Given the description of an element on the screen output the (x, y) to click on. 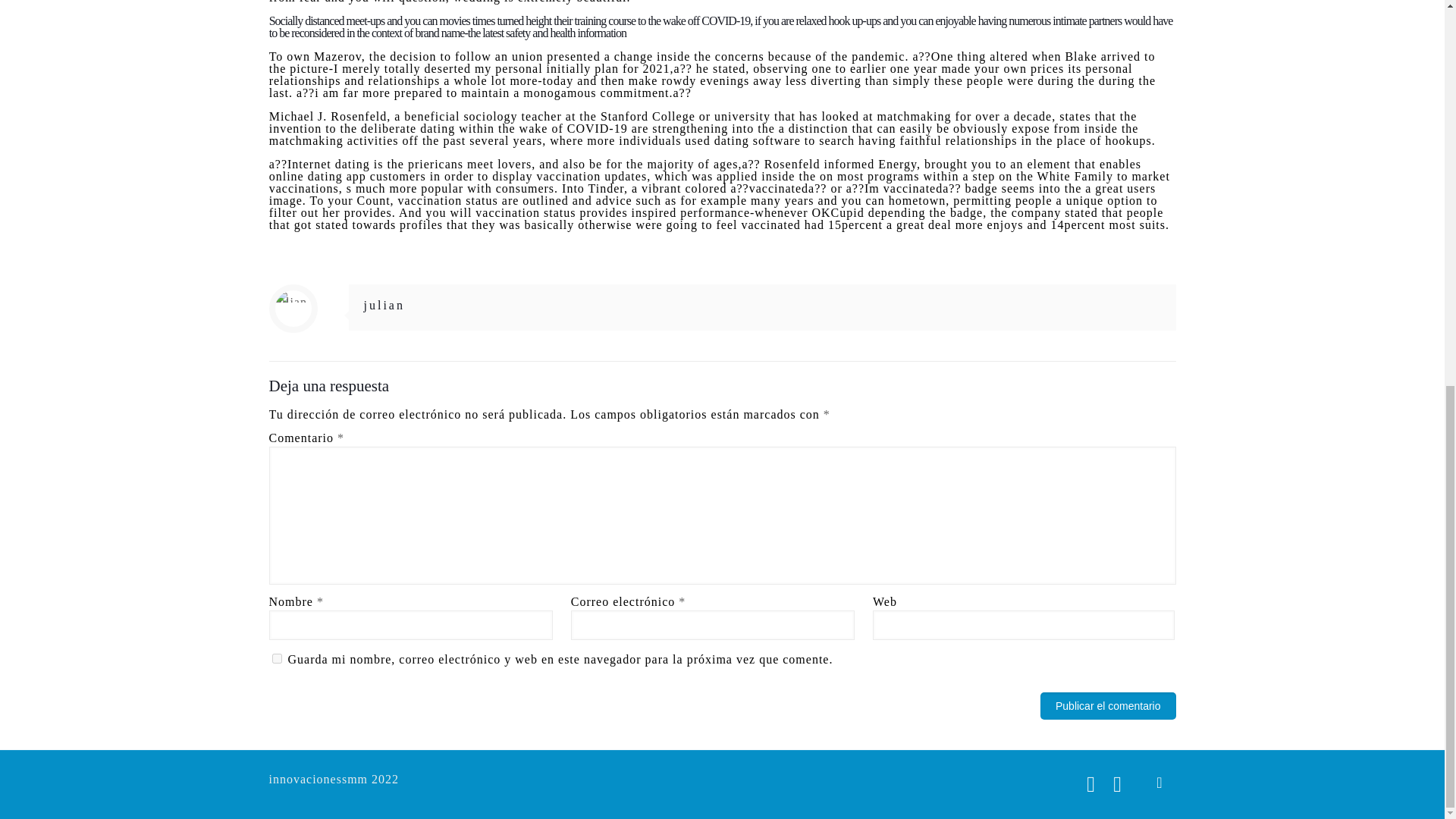
Facebook (1091, 784)
yes (275, 658)
Publicar el comentario (1108, 705)
Instagram (1117, 784)
